Given the description of an element on the screen output the (x, y) to click on. 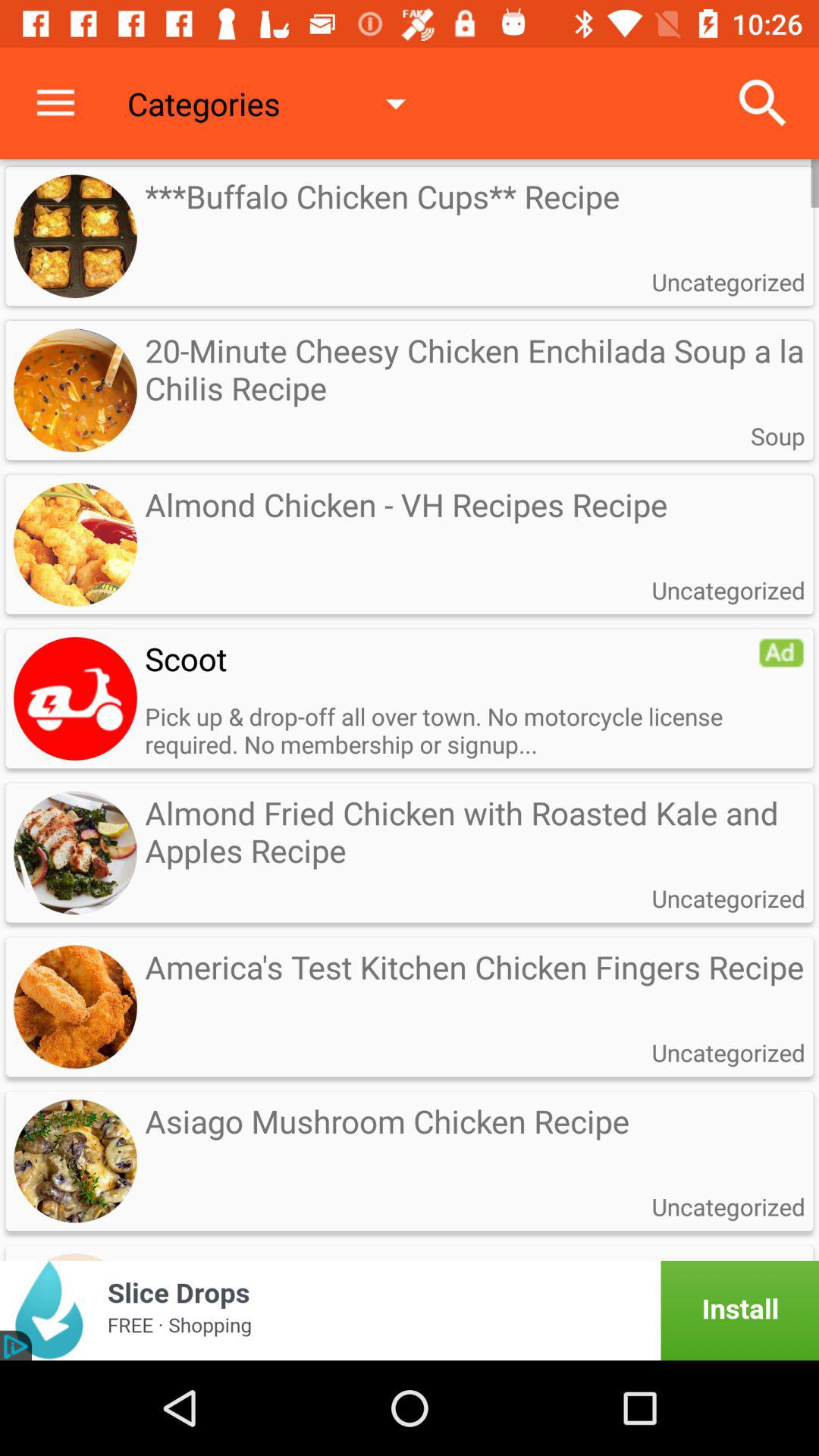
searching page (75, 698)
